Given the description of an element on the screen output the (x, y) to click on. 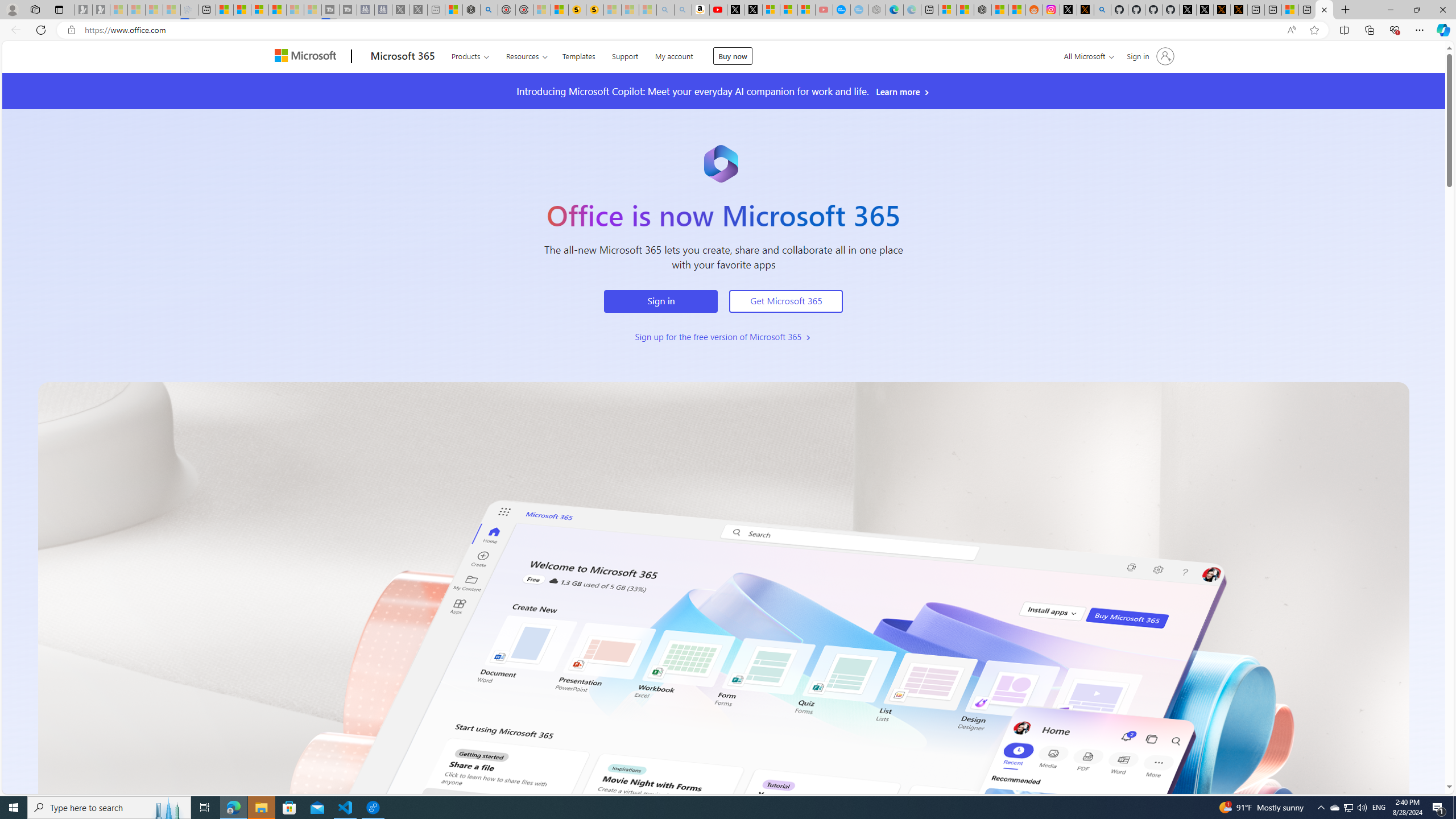
amazon - Search - Sleeping (665, 9)
Log in to X / X (1068, 9)
Shanghai, China Weather trends | Microsoft Weather (1016, 9)
Address and search bar (680, 29)
X - Sleeping (418, 9)
Nordace - Duffels (982, 9)
The most popular Google 'how to' searches - Sleeping (859, 9)
Sign up for the free version of Microsoft 365 (723, 336)
Microsoft 365 (402, 56)
